Given the description of an element on the screen output the (x, y) to click on. 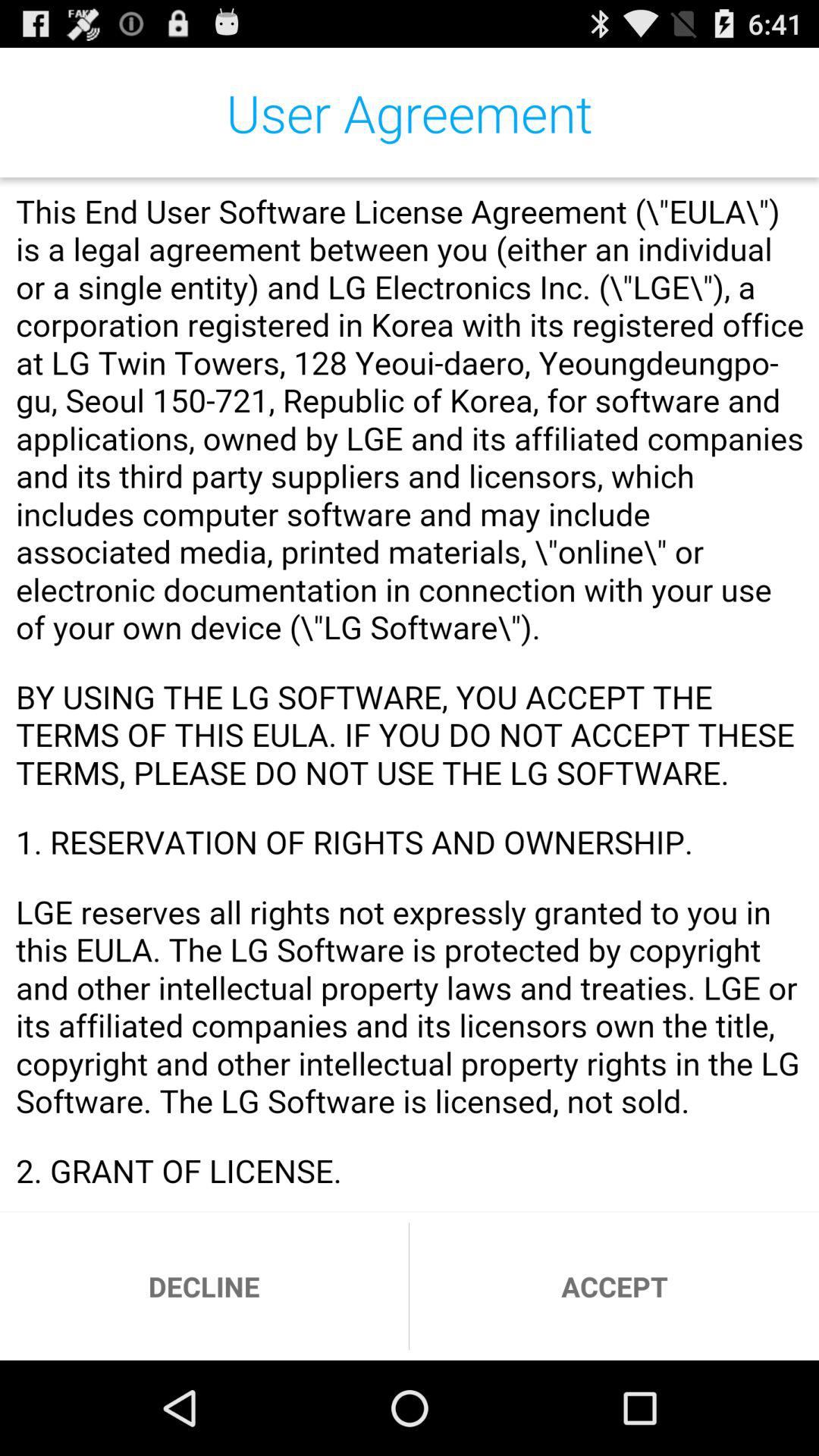
screen button (409, 694)
